Given the description of an element on the screen output the (x, y) to click on. 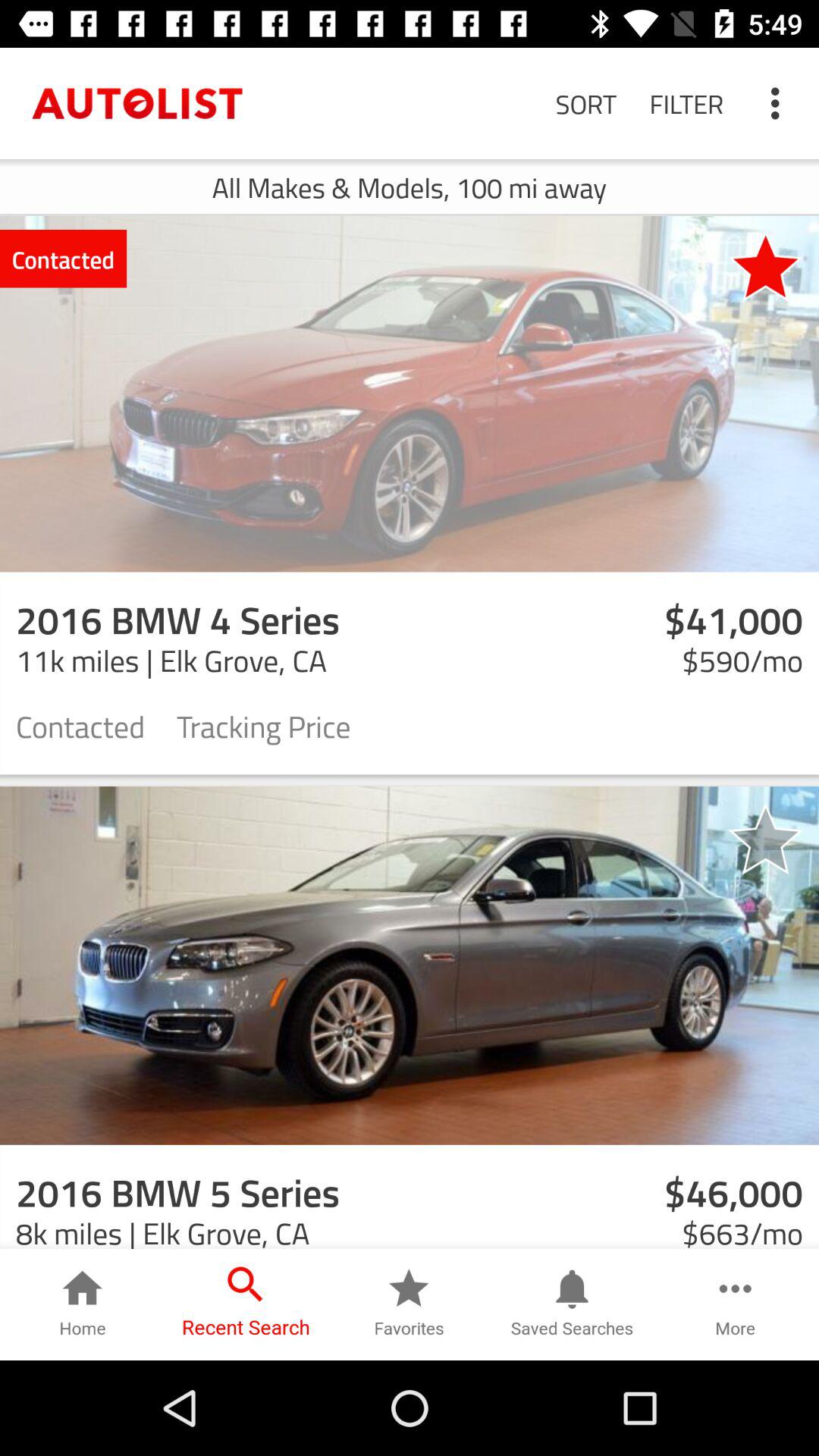
turn on the icon next to the contacted item (765, 265)
